Given the description of an element on the screen output the (x, y) to click on. 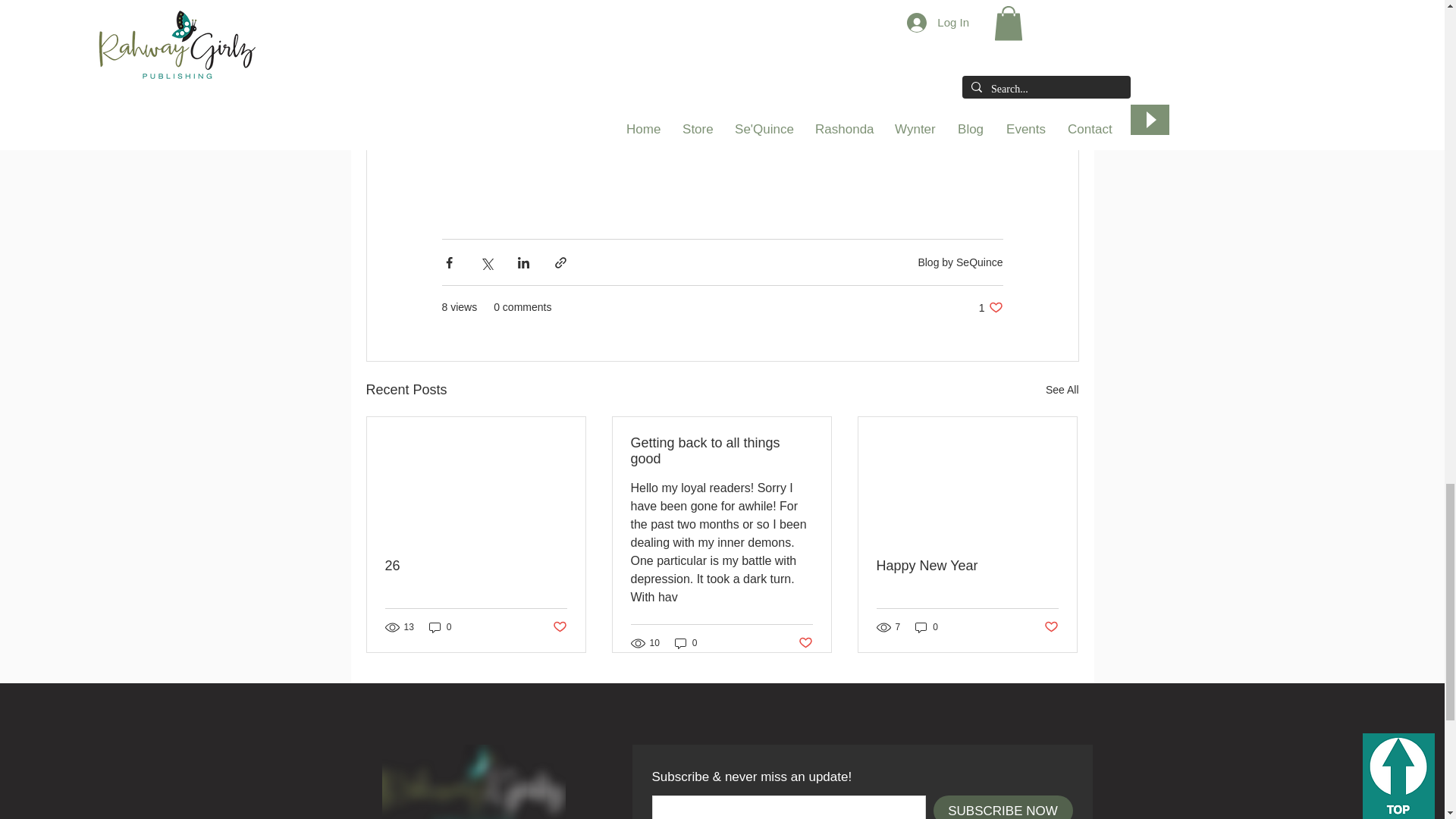
See All (1061, 390)
26 (476, 565)
Blog by SeQuince (960, 262)
